Given the description of an element on the screen output the (x, y) to click on. 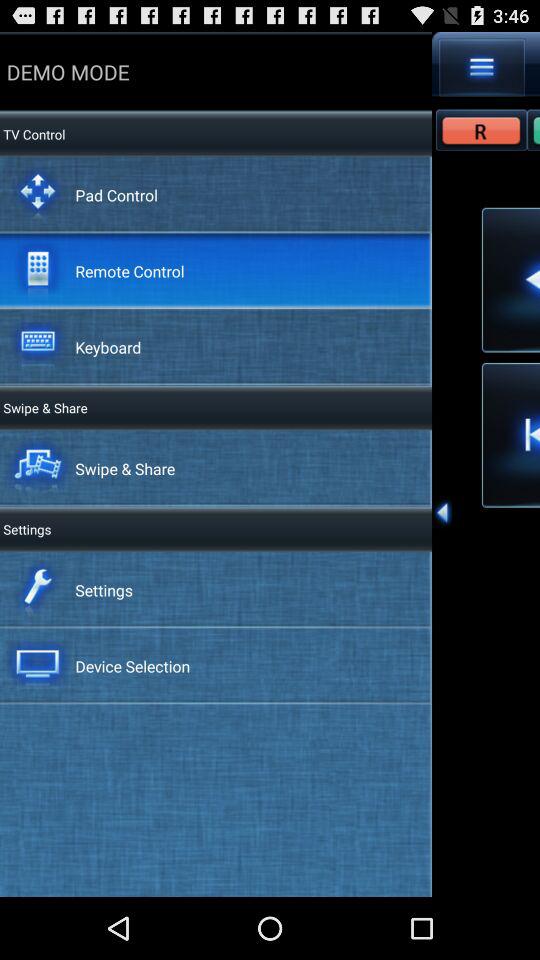
turn on device selection (132, 665)
